Given the description of an element on the screen output the (x, y) to click on. 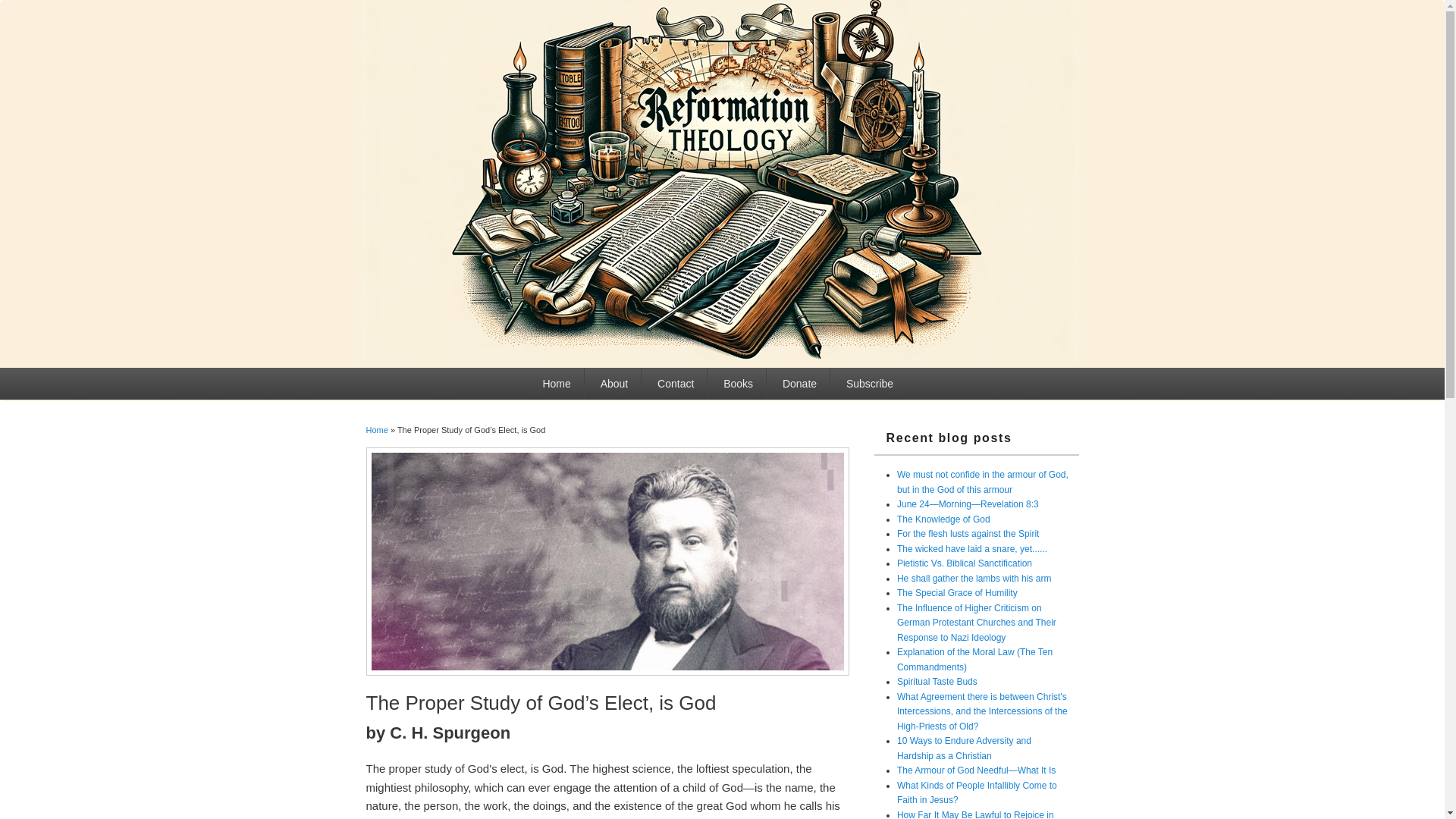
The Knowledge of God (943, 519)
The wicked have laid a snare, yet...... (971, 548)
10 Ways to Endure Adversity and Hardship as a Christian (963, 748)
Donate (799, 383)
Home (376, 429)
Books (737, 383)
What Kinds of People Infallibly Come to Faith in Jesus? (976, 792)
Home (556, 383)
Subscribe (868, 383)
Contact (675, 383)
How Far It May Be Lawful to Rejoice in Our Enemy's Overthrow (975, 814)
For the flesh lusts against the Spirit (967, 533)
